Given the description of an element on the screen output the (x, y) to click on. 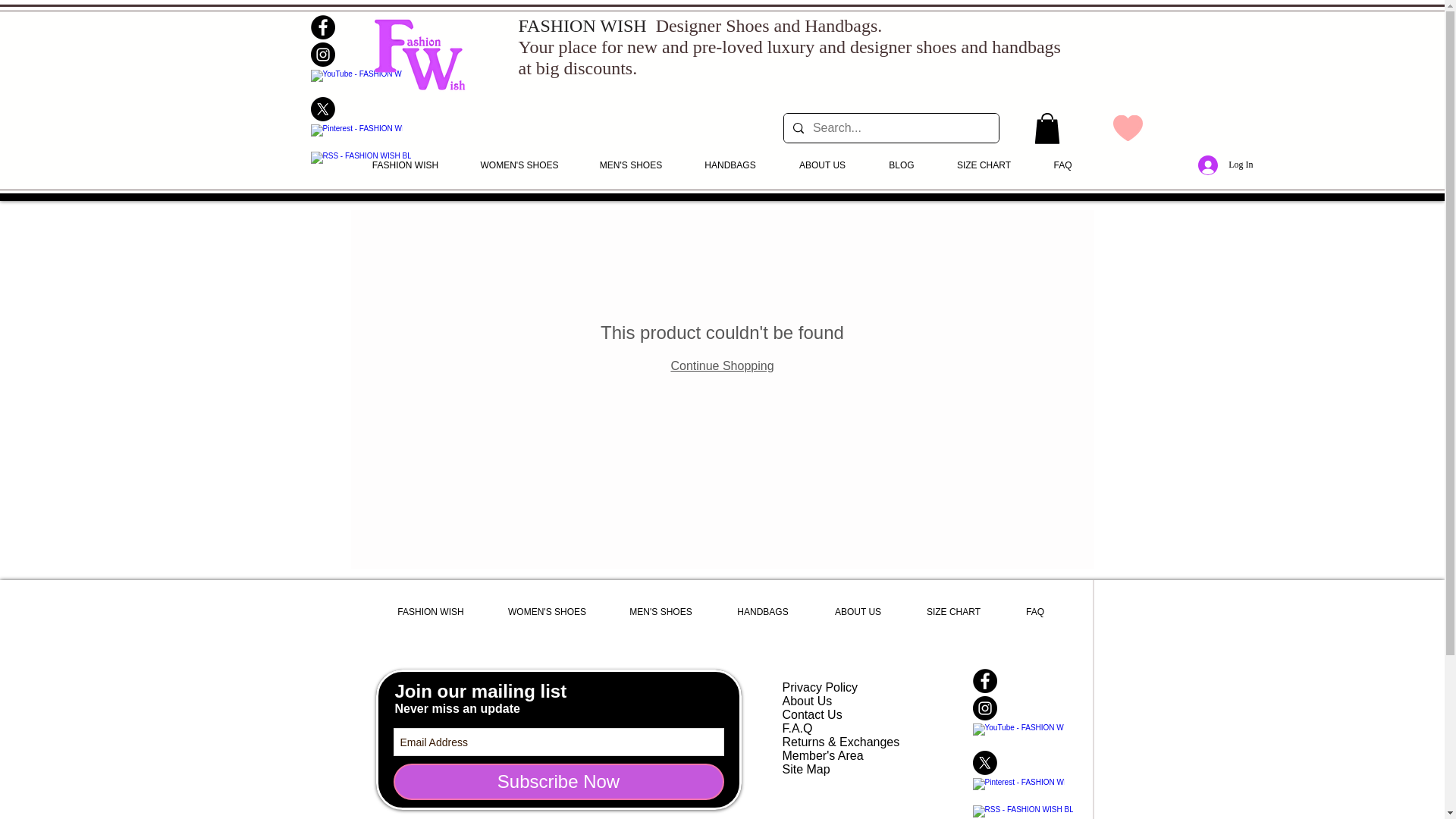
MEN'S SHOES (630, 165)
WOMEN'S SHOES (519, 165)
FASHION WISH (405, 165)
Fashion Wish Designer Shoes and Handbags (419, 54)
HANDBAGS (729, 165)
